Given the description of an element on the screen output the (x, y) to click on. 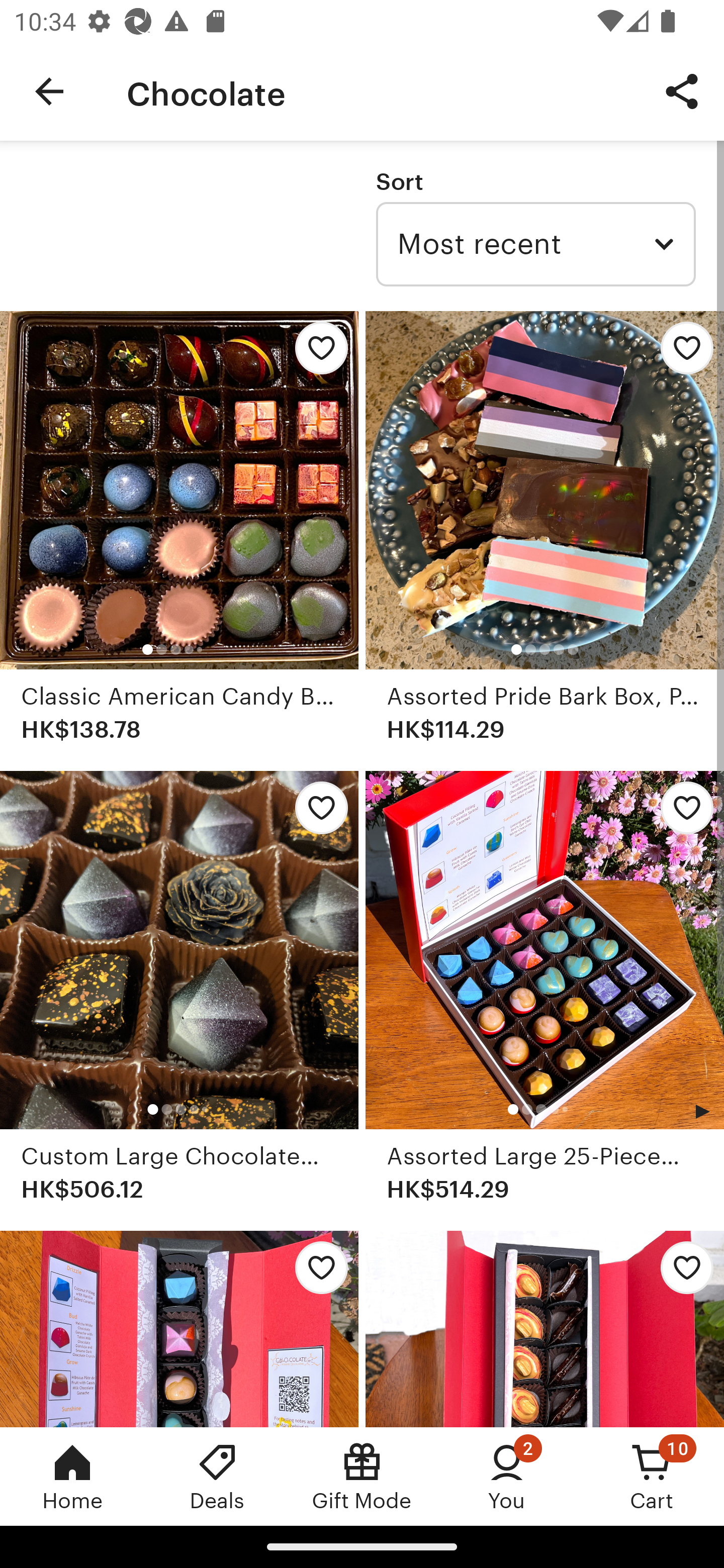
Navigate up (49, 91)
Share Button (681, 90)
Sort (399, 181)
Most recent (535, 244)
Add Custom Large Chocolate Box to favorites (315, 813)
Add Custom Medium Chocolate Box to favorites (681, 1272)
Deals (216, 1475)
Gift Mode (361, 1475)
You, 2 new notifications You (506, 1475)
Cart, 10 new notifications Cart (651, 1475)
